Given the description of an element on the screen output the (x, y) to click on. 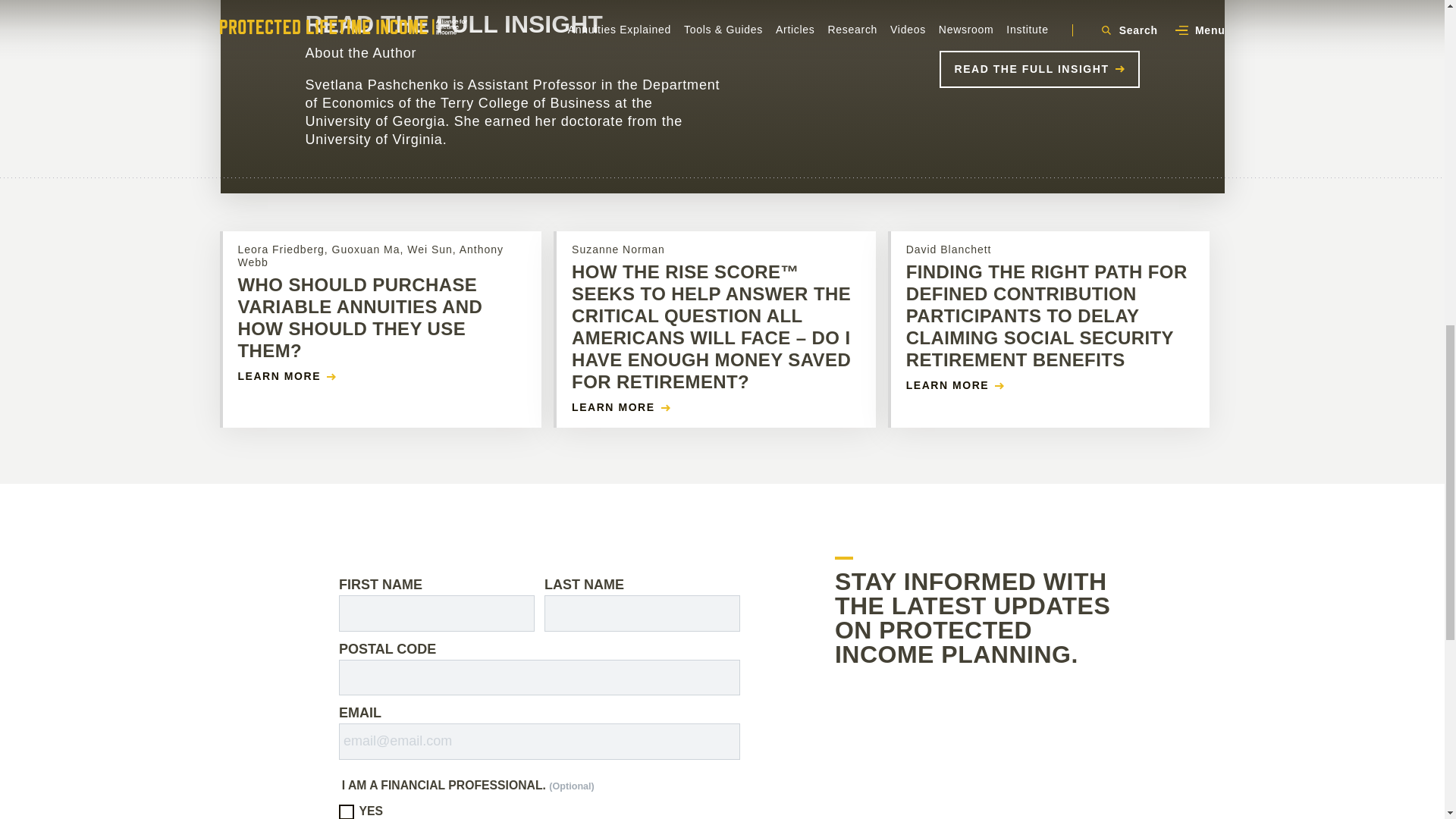
READ THE FULL INSIGHT (1039, 68)
